Given the description of an element on the screen output the (x, y) to click on. 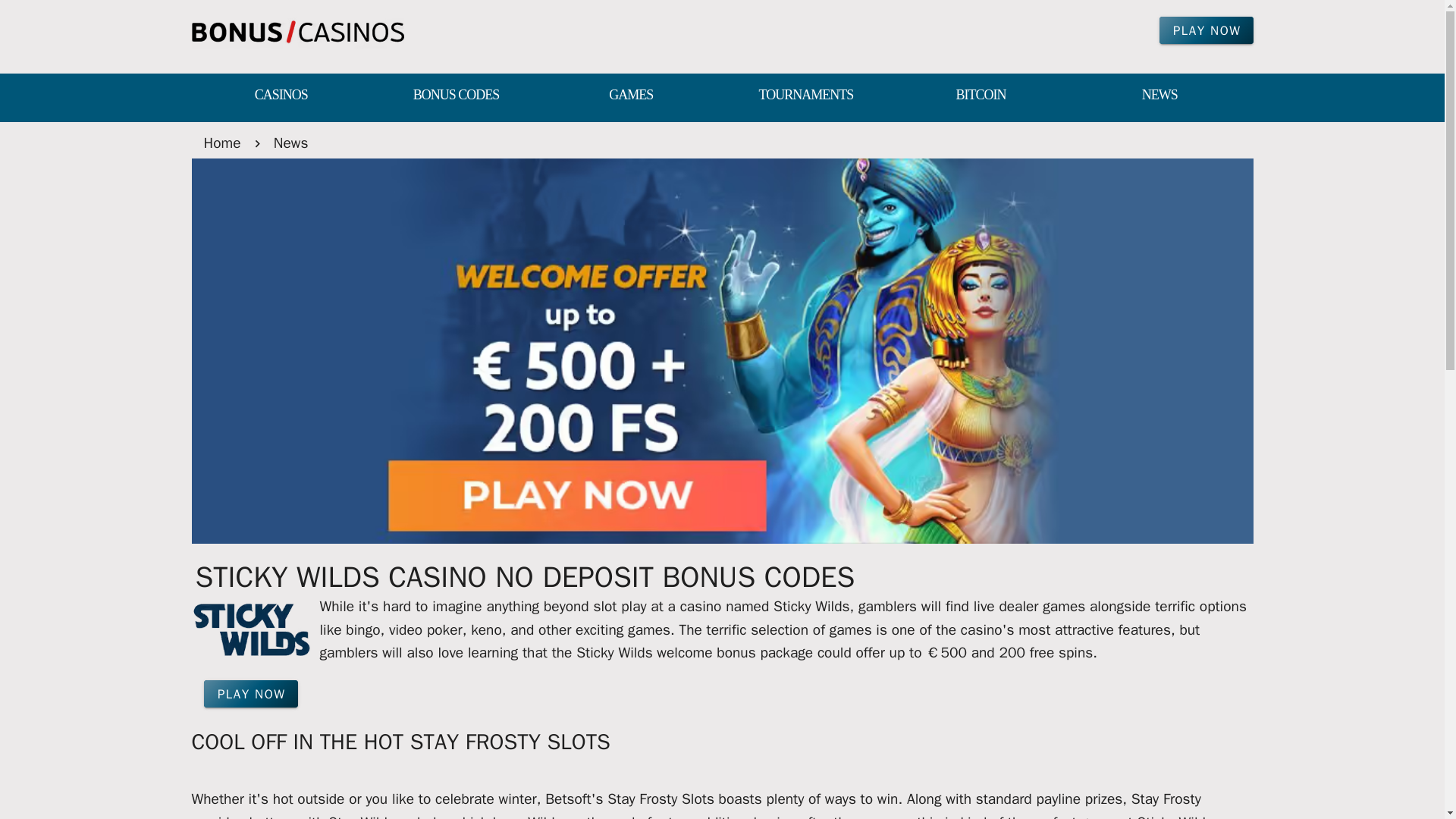
BONUS CODES (456, 95)
NEWS (1159, 95)
Home (221, 143)
GAMES (630, 95)
BITCOIN (980, 95)
PLAY NOW (250, 693)
TOURNAMENTS (805, 95)
News (290, 143)
PLAY NOW (1205, 30)
CASINOS (280, 95)
